Given the description of an element on the screen output the (x, y) to click on. 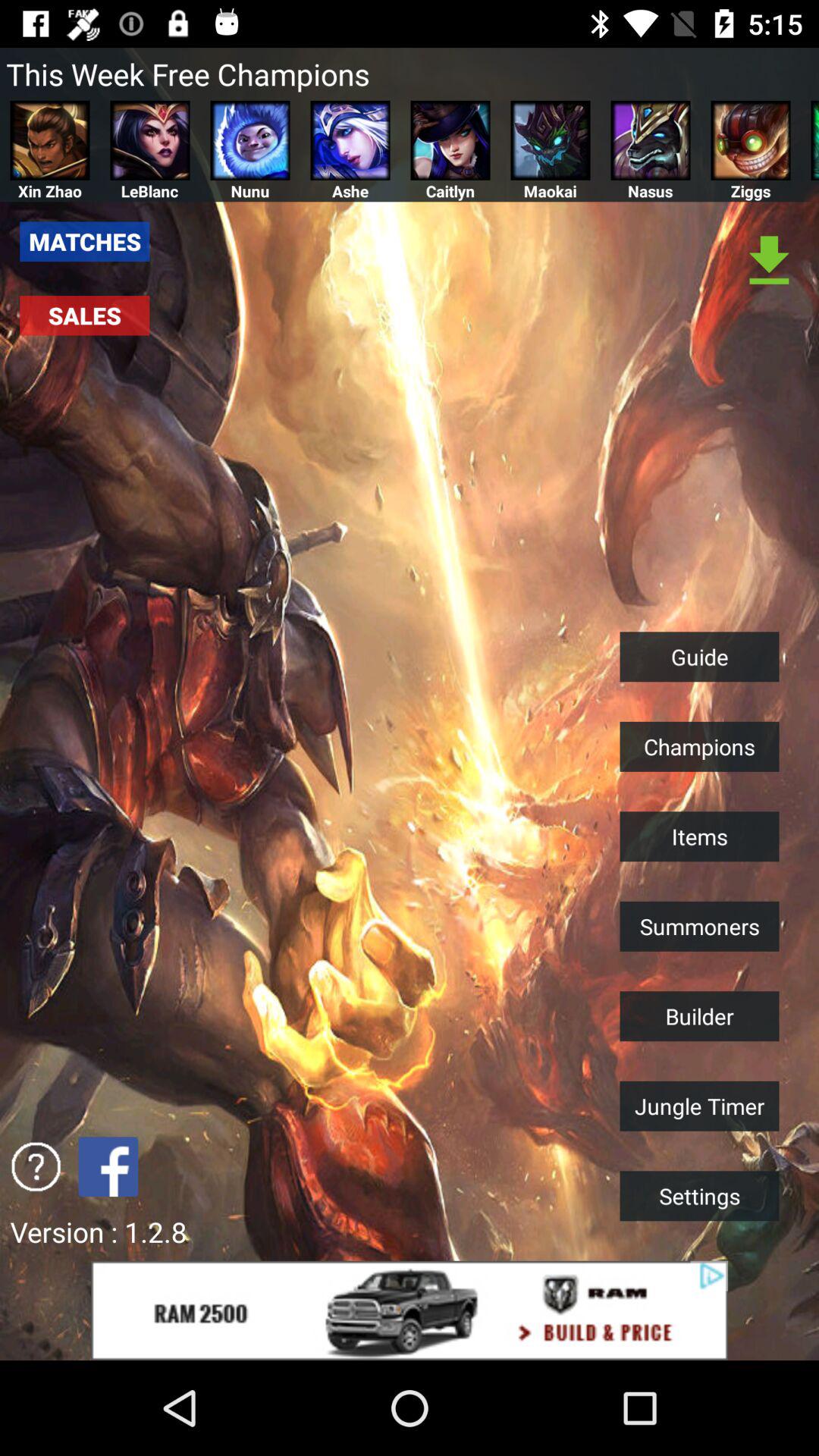
go to icon (35, 1166)
